Given the description of an element on the screen output the (x, y) to click on. 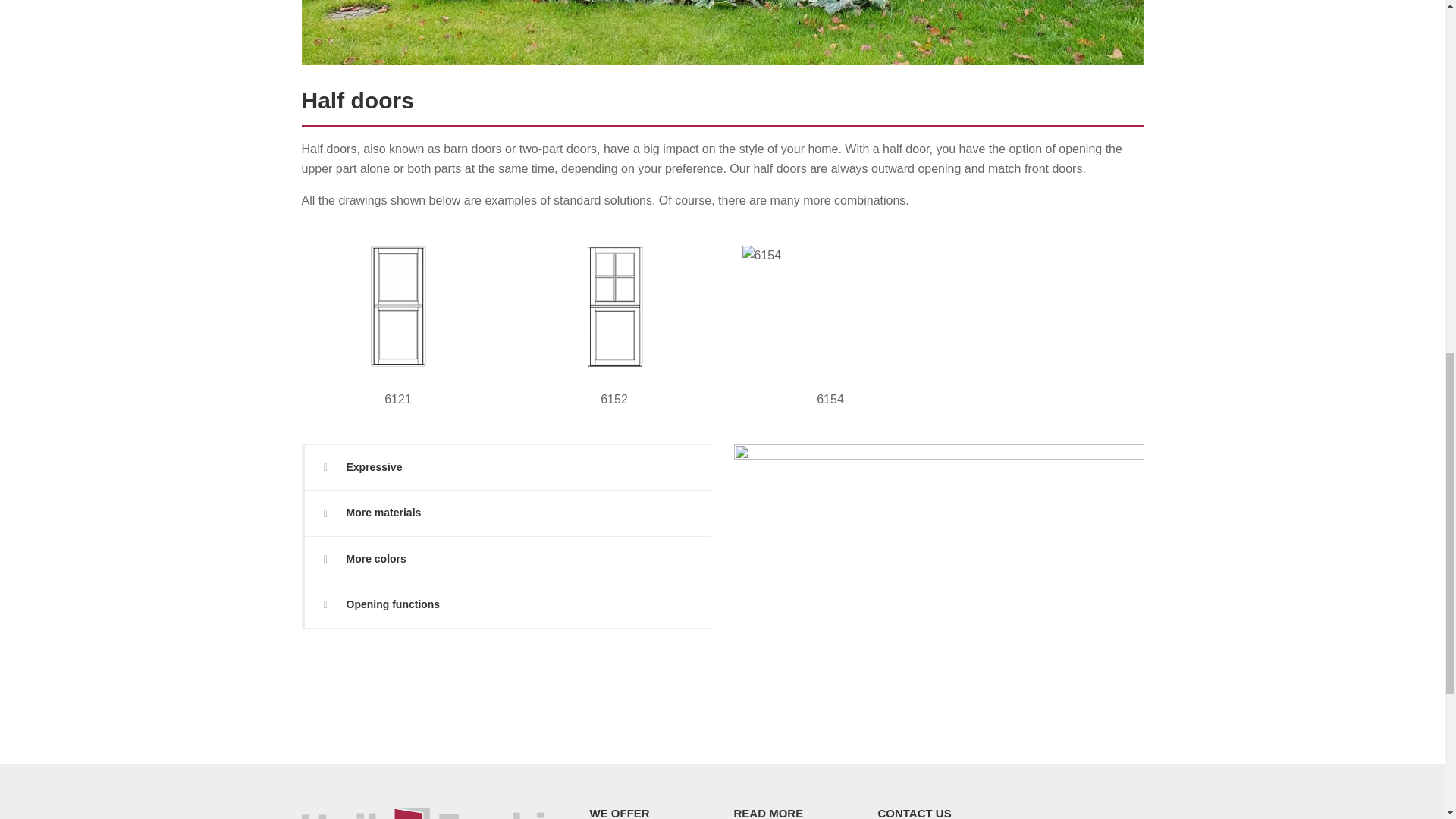
6121 (397, 305)
6152 (614, 305)
6154 (829, 305)
